Given the description of an element on the screen output the (x, y) to click on. 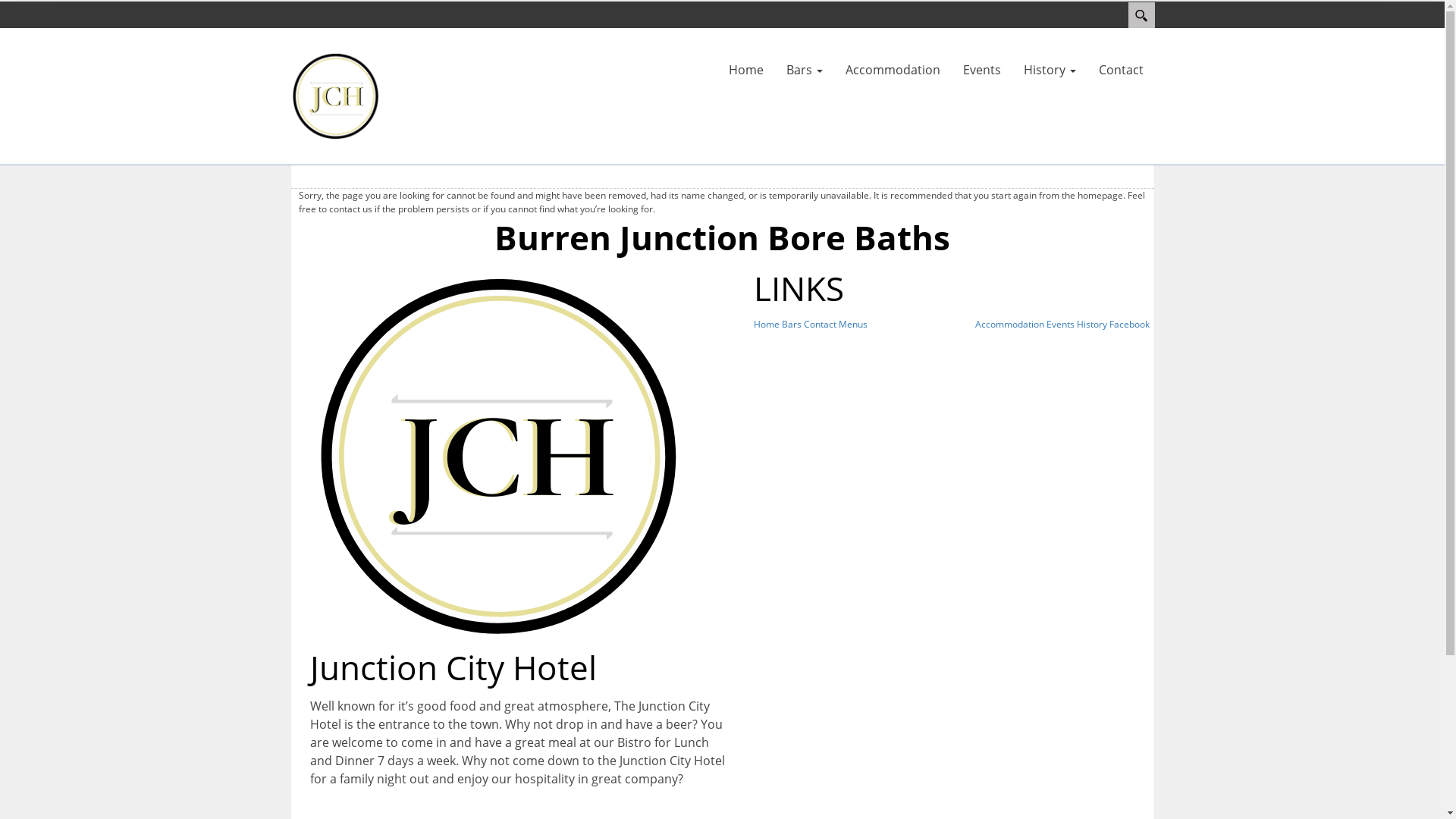
Facebook Element type: text (1129, 323)
Accommodation Element type: text (1009, 323)
Contact Element type: text (1120, 69)
Contact Element type: text (819, 323)
Junction City Element type: hover (334, 94)
Bars Element type: text (790, 323)
Home Element type: text (766, 323)
Menus Element type: text (852, 323)
History Element type: text (1091, 323)
History Element type: text (1048, 69)
Events Element type: text (980, 69)
Search Element type: text (1141, 15)
Accommodation Element type: text (892, 69)
Home Element type: text (746, 69)
Bars Element type: text (804, 69)
Events Element type: text (1060, 323)
